Given the description of an element on the screen output the (x, y) to click on. 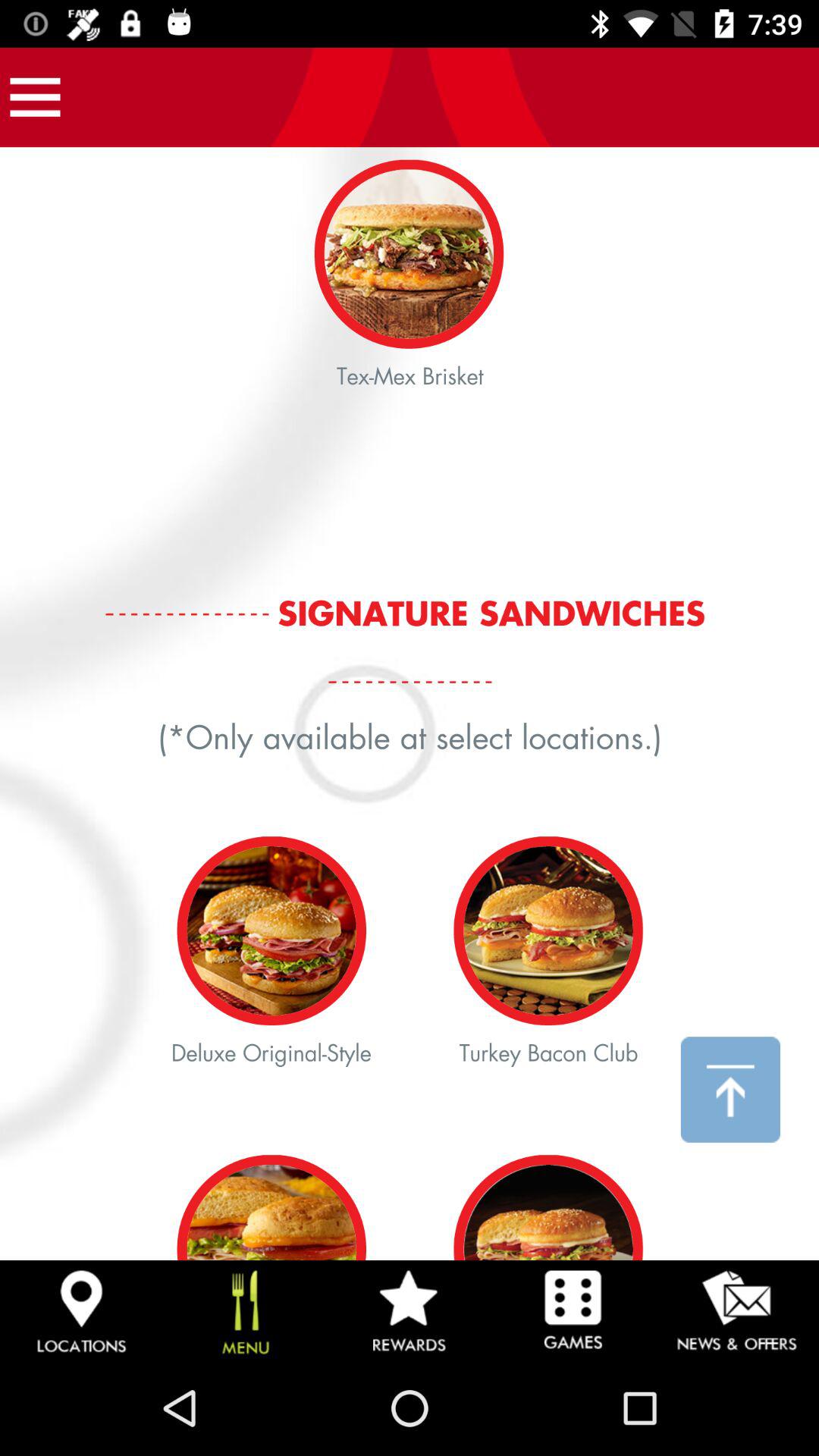
open a menu (35, 97)
